Given the description of an element on the screen output the (x, y) to click on. 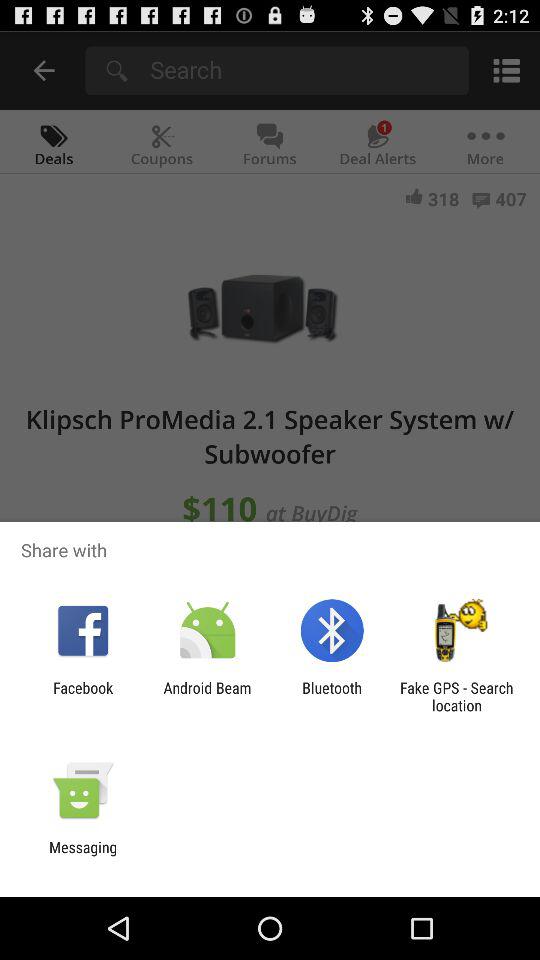
click item next to bluetooth (456, 696)
